Given the description of an element on the screen output the (x, y) to click on. 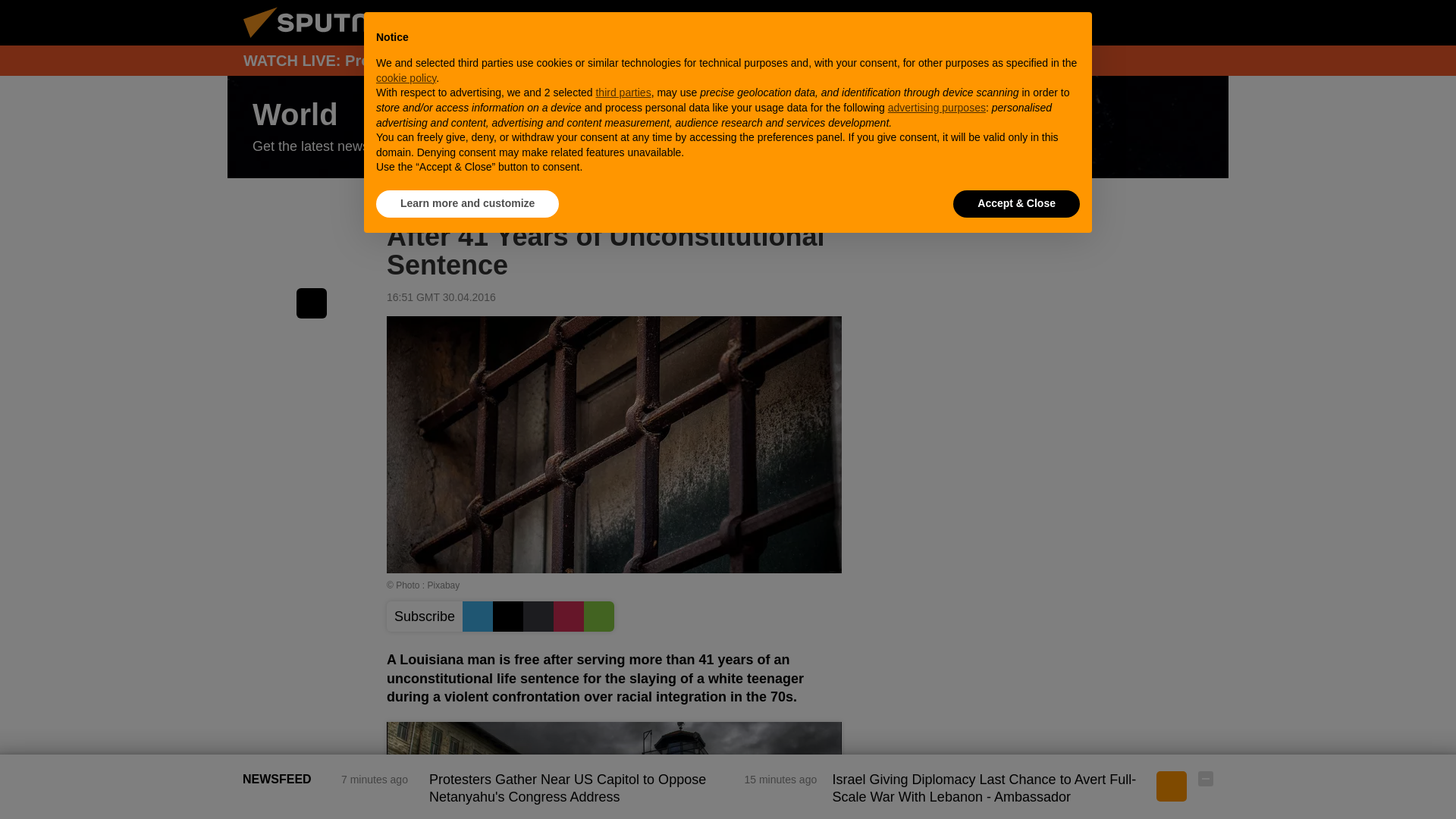
Authorization (1129, 22)
Chats (1206, 22)
World (727, 127)
Sputnik International (325, 41)
